Given the description of an element on the screen output the (x, y) to click on. 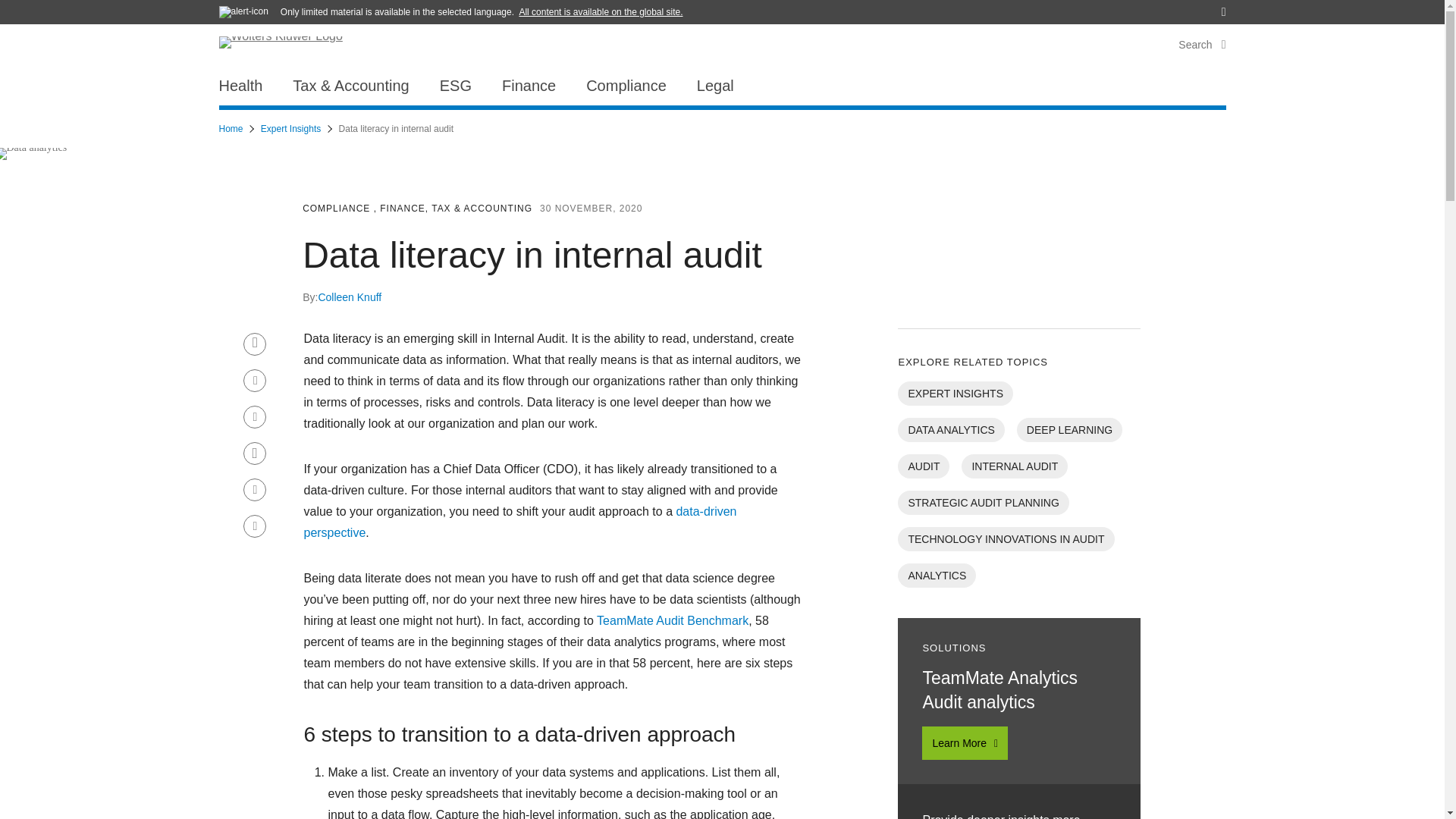
SOLUTIONS (1037, 8)
INVESTORS (1168, 8)
Logo (290, 47)
About Wolters Kluwer (274, 7)
All content is available on the global site. (600, 11)
colleen-knuff (349, 297)
CAREERS (1103, 8)
